Given the description of an element on the screen output the (x, y) to click on. 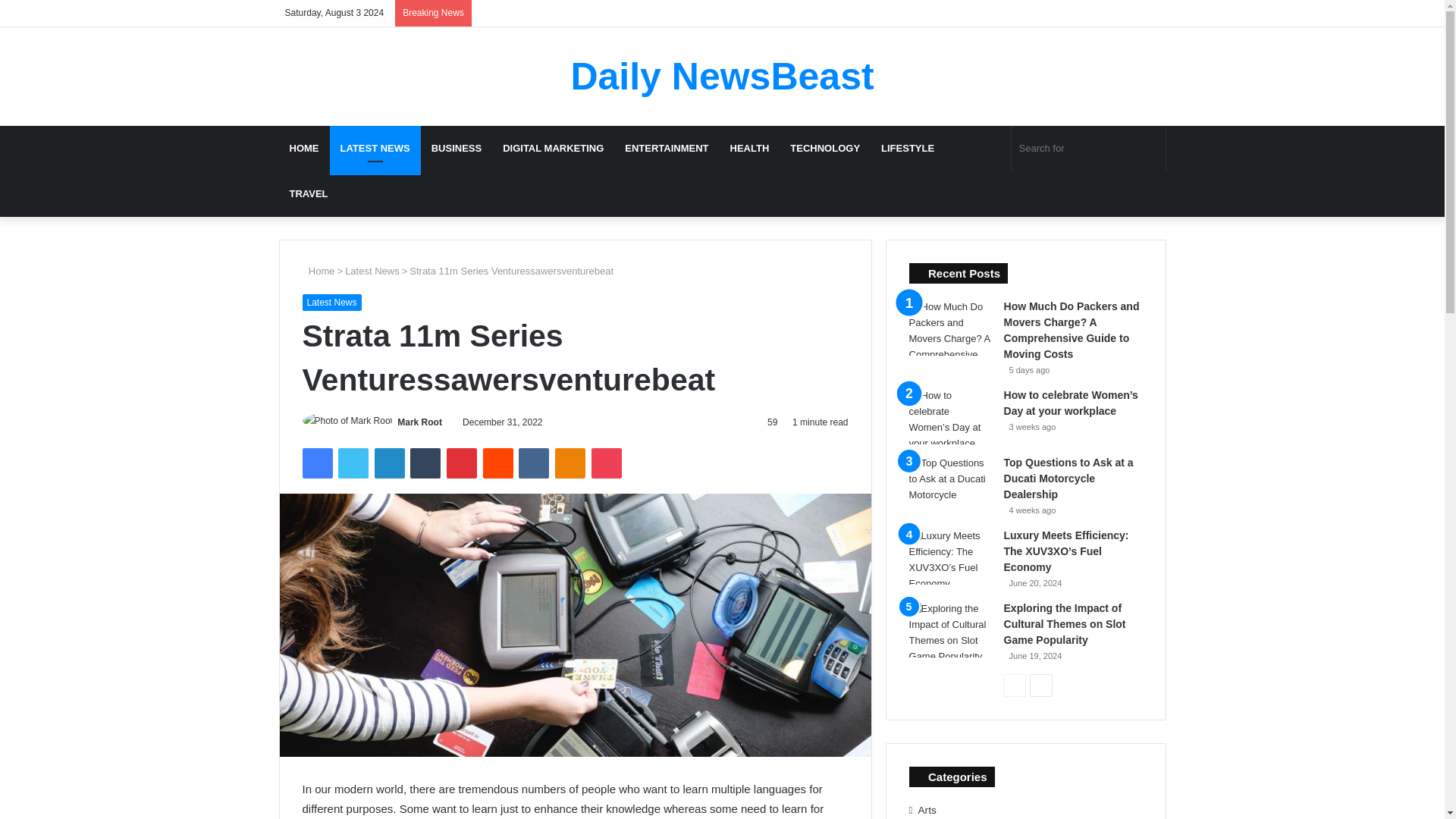
LinkedIn (389, 462)
Latest News (331, 302)
Tumblr (425, 462)
Odnoklassniki (569, 462)
Pocket (606, 462)
LIFESTYLE (907, 148)
Tumblr (425, 462)
Pocket (606, 462)
Home (317, 270)
Pinterest (461, 462)
ENTERTAINMENT (666, 148)
Latest News (371, 270)
Pinterest (461, 462)
Twitter (352, 462)
Reddit (498, 462)
